Given the description of an element on the screen output the (x, y) to click on. 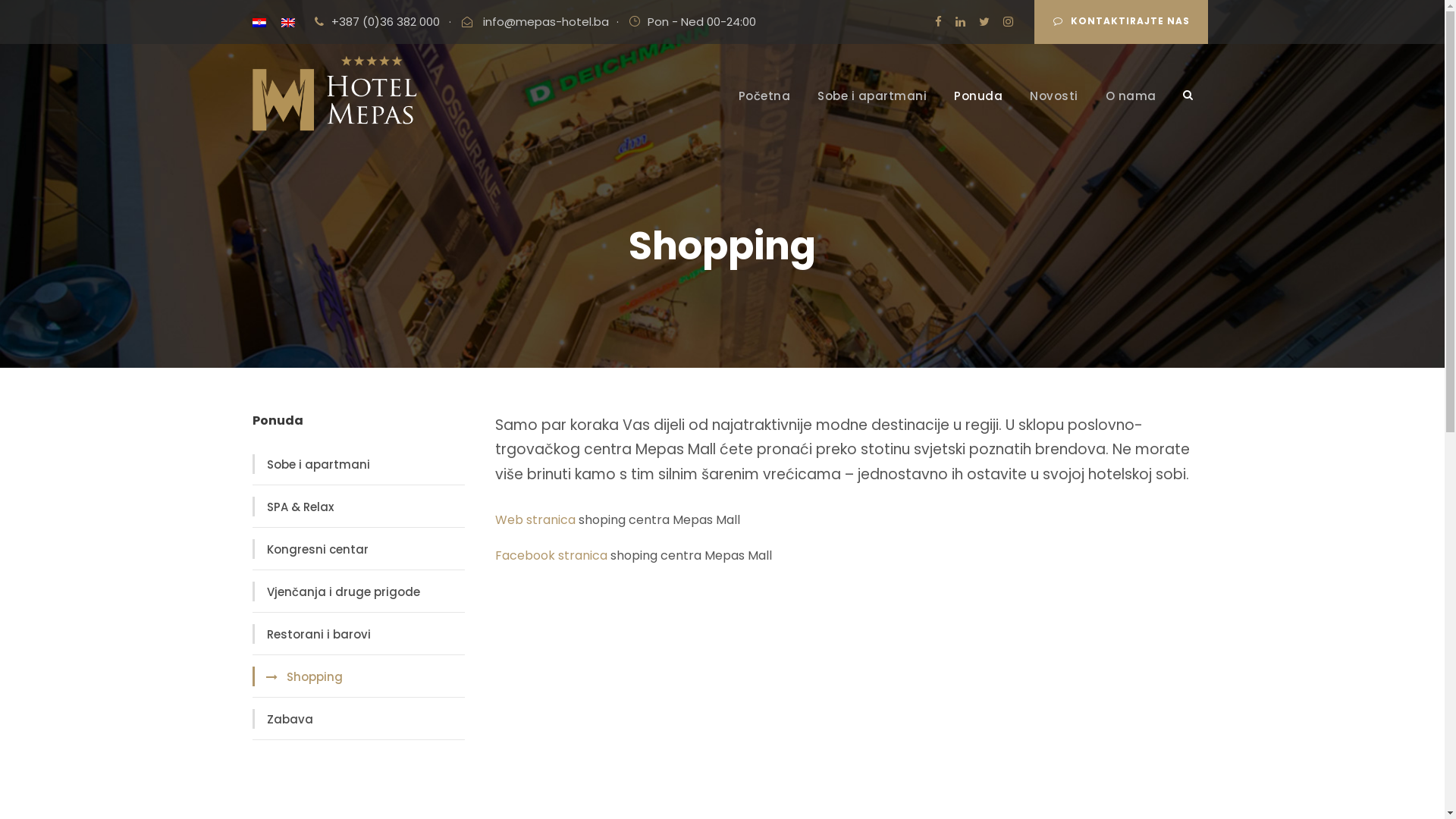
Ponuda Element type: text (977, 107)
Kongresni centar Element type: text (311, 549)
Sobe i apartmani Element type: text (312, 464)
Shopping Element type: text (298, 677)
instagram Element type: hover (1007, 21)
Facebook stranica Element type: text (550, 555)
info@mepas-hotel.ba Element type: text (543, 21)
O nama Element type: text (1130, 107)
KONTAKTIRAJTE NAS Element type: text (1121, 21)
Sobe i apartmani Element type: text (871, 107)
linkedin Element type: hover (960, 21)
twitter Element type: hover (983, 21)
Web stranica Element type: text (534, 519)
SPA & Relax Element type: text (293, 507)
Restorani i barovi Element type: text (312, 634)
Novosti Element type: text (1053, 107)
Zabava Element type: text (283, 719)
facebook Element type: hover (937, 21)
